Given the description of an element on the screen output the (x, y) to click on. 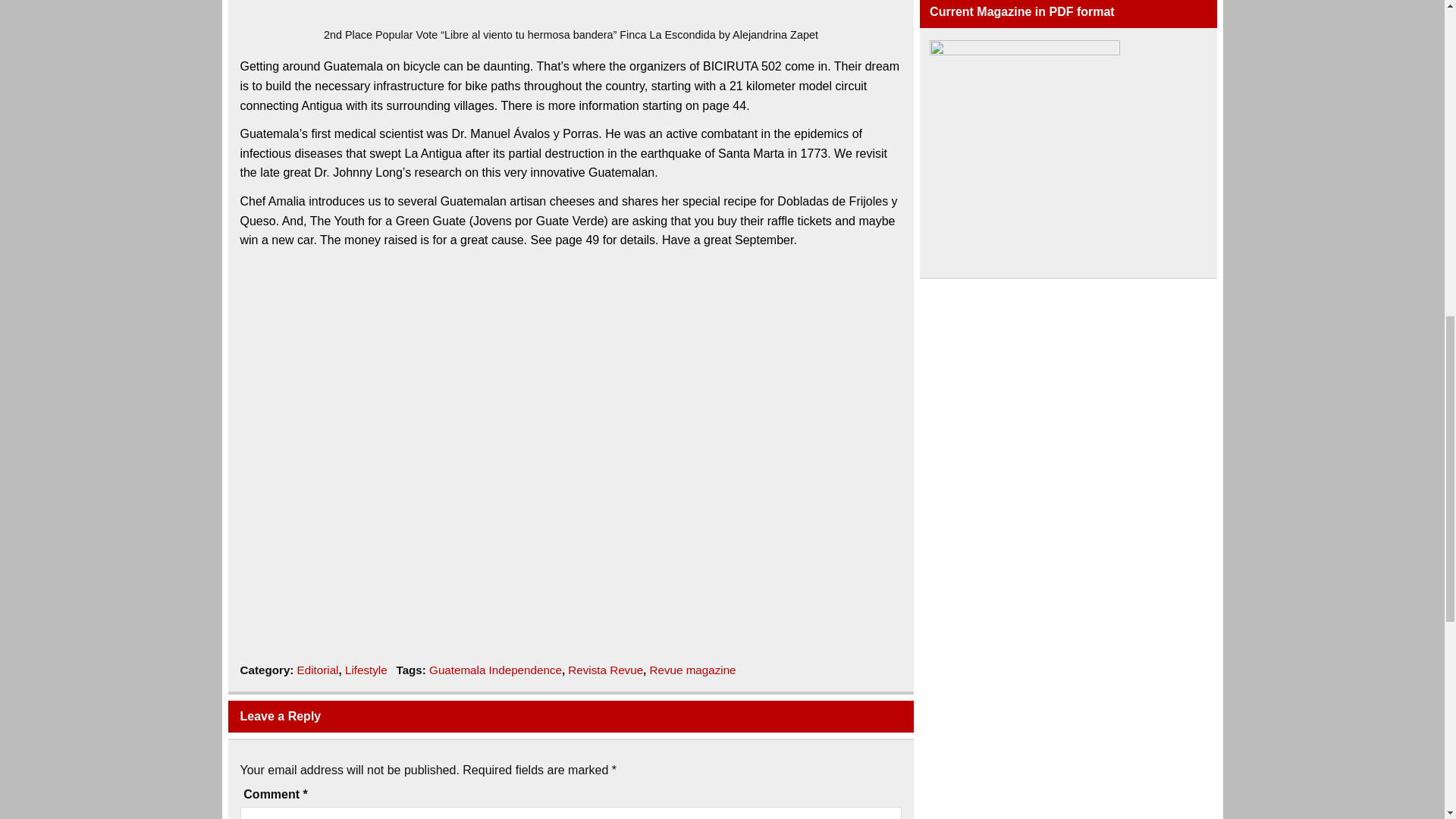
Lifestyle (366, 669)
Revista Revue (605, 669)
Guatemala Independence (495, 669)
Revue magazine (692, 669)
Editorial (318, 669)
